Given the description of an element on the screen output the (x, y) to click on. 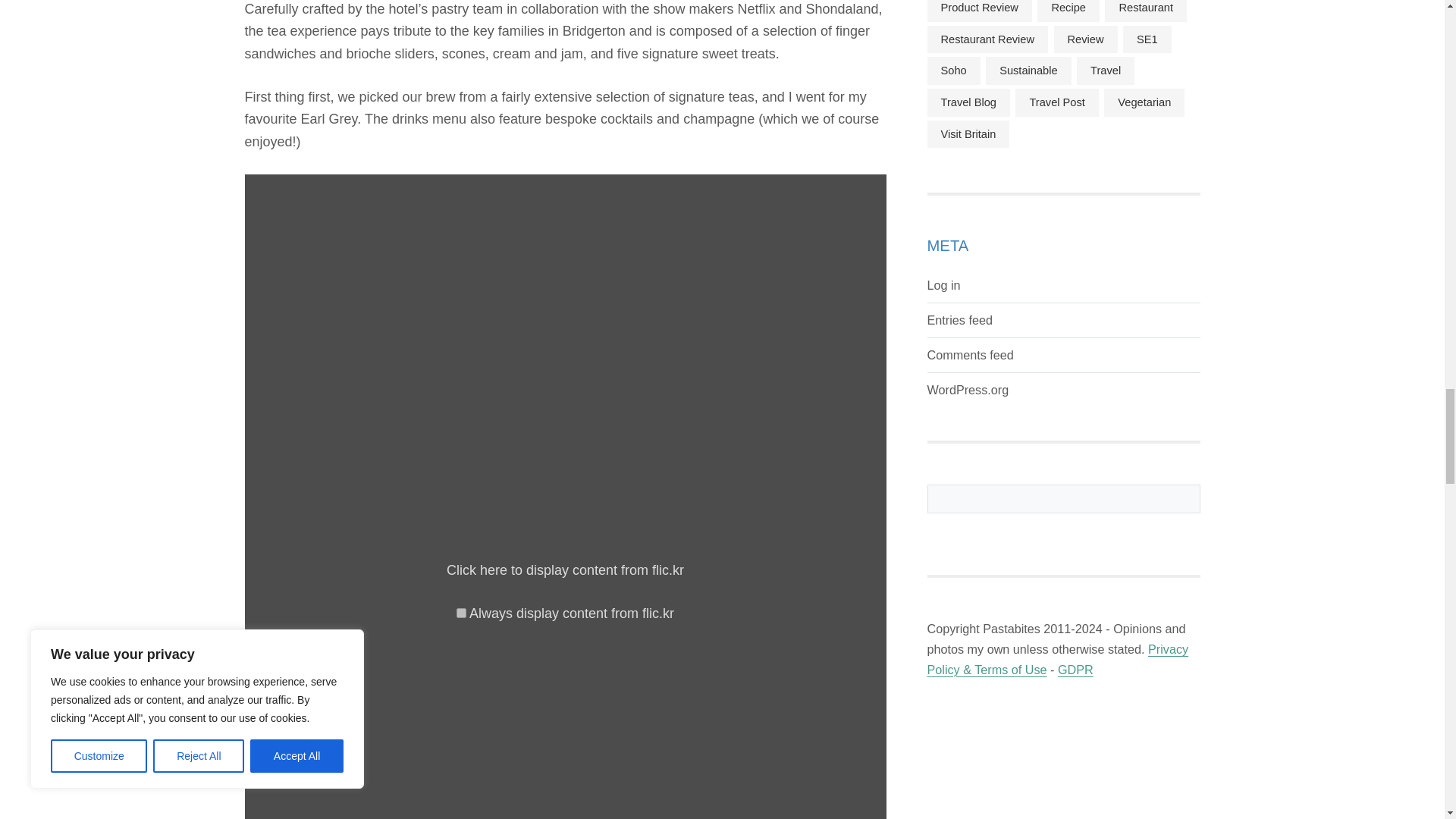
1 (461, 613)
